Given the description of an element on the screen output the (x, y) to click on. 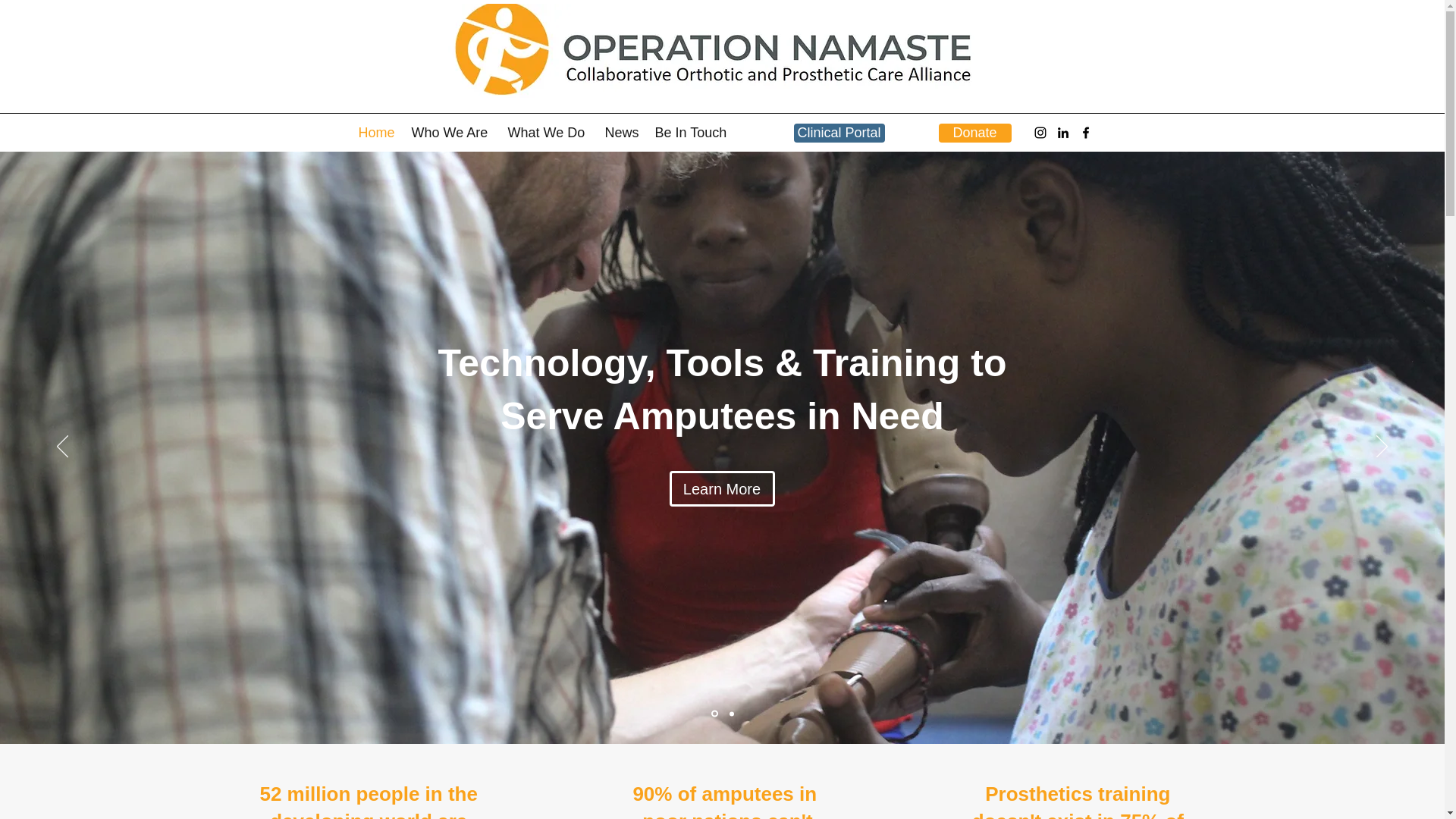
News (621, 132)
Who We Are (451, 132)
Clinical Portal (838, 132)
Home (376, 132)
Donate (975, 132)
Be In Touch (691, 132)
What We Do (548, 132)
Learn More (721, 488)
